Given the description of an element on the screen output the (x, y) to click on. 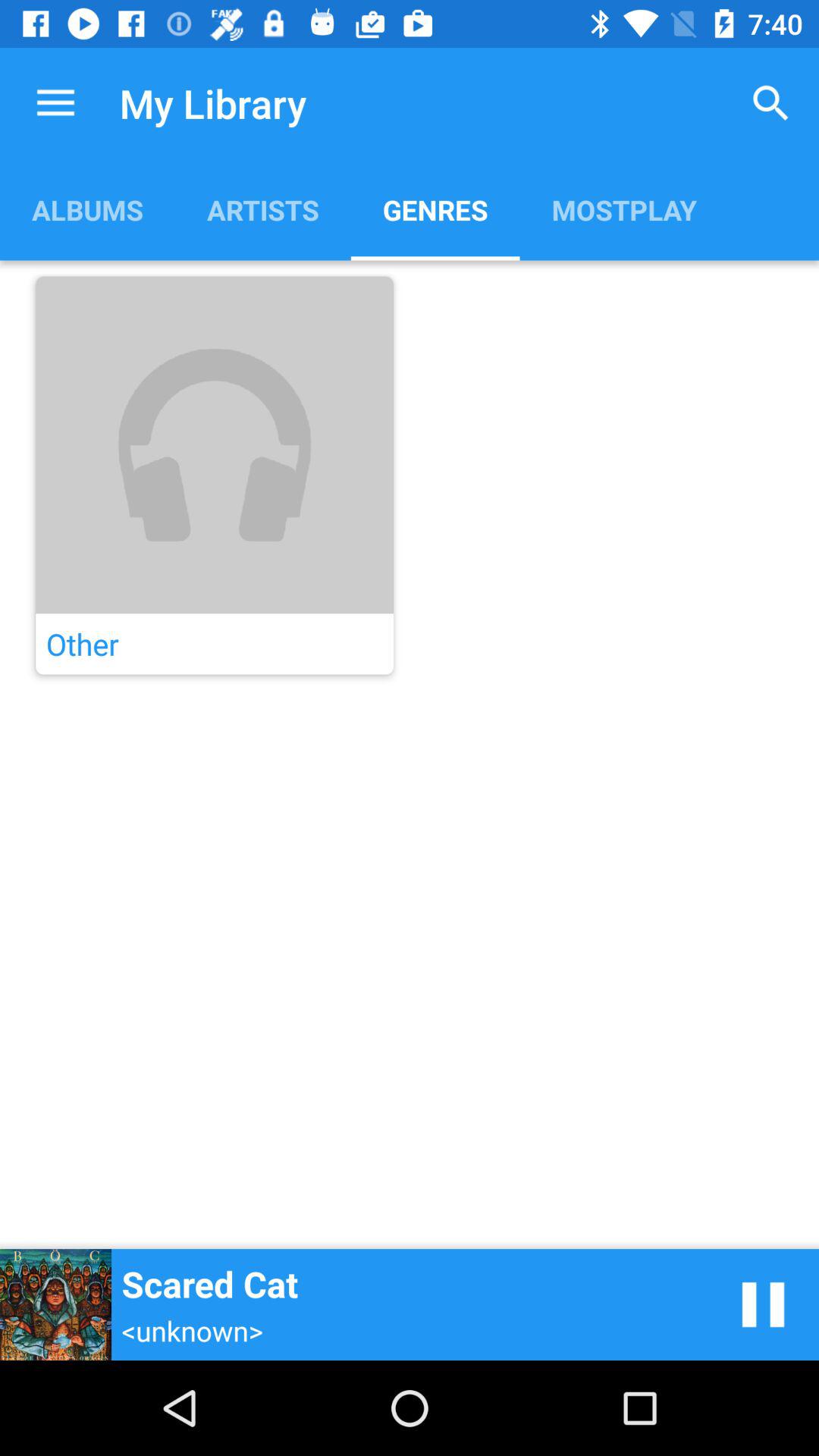
tap the item to the left of the my library app (55, 103)
